Given the description of an element on the screen output the (x, y) to click on. 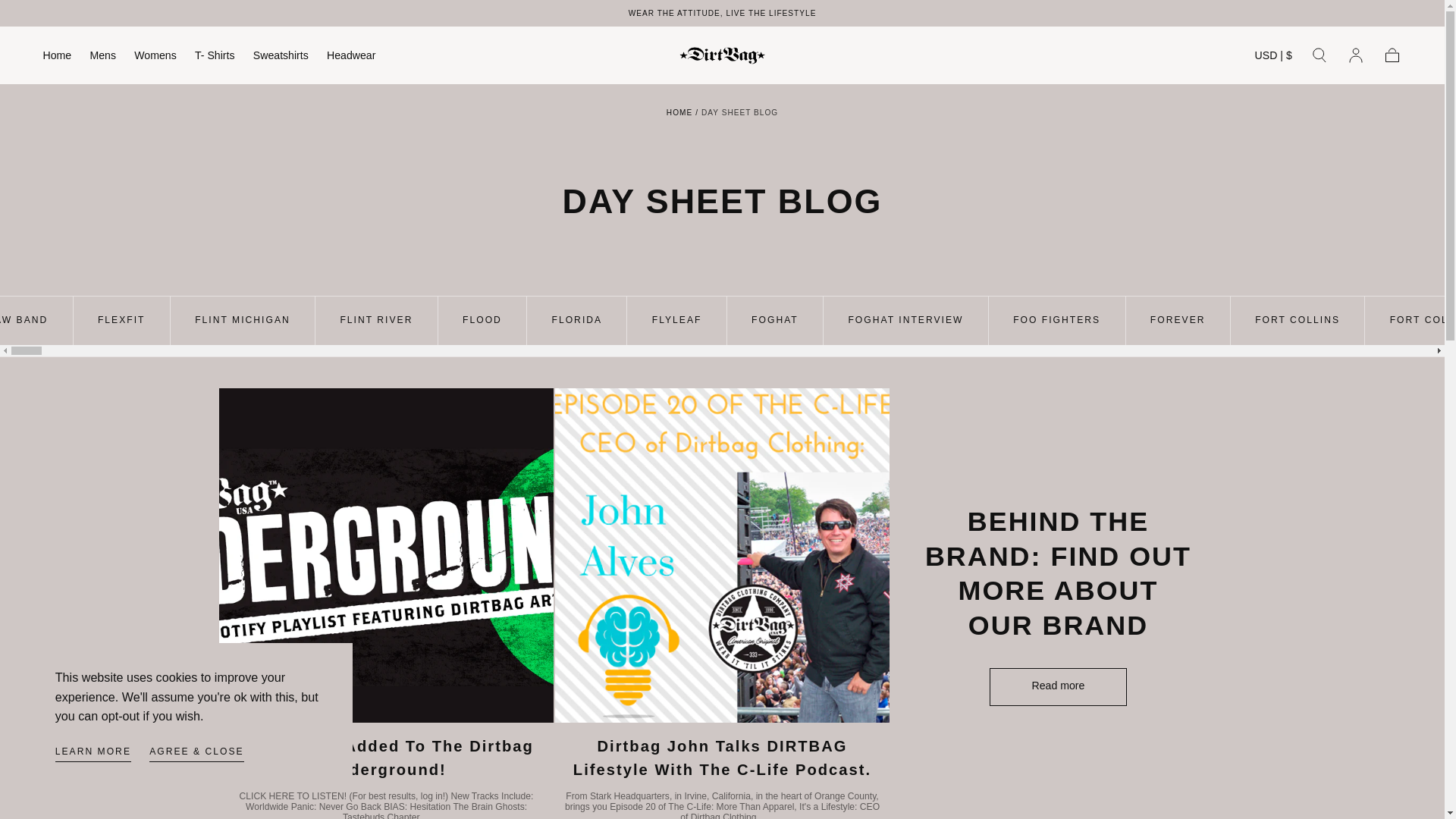
Headwear (350, 57)
Sweatshirts (280, 57)
Womens (154, 57)
Cart (1391, 54)
Home (57, 57)
Mens (102, 57)
LEARN MORE (93, 753)
Cart (1391, 54)
Headwear (350, 57)
Mens  (102, 57)
